Given the description of an element on the screen output the (x, y) to click on. 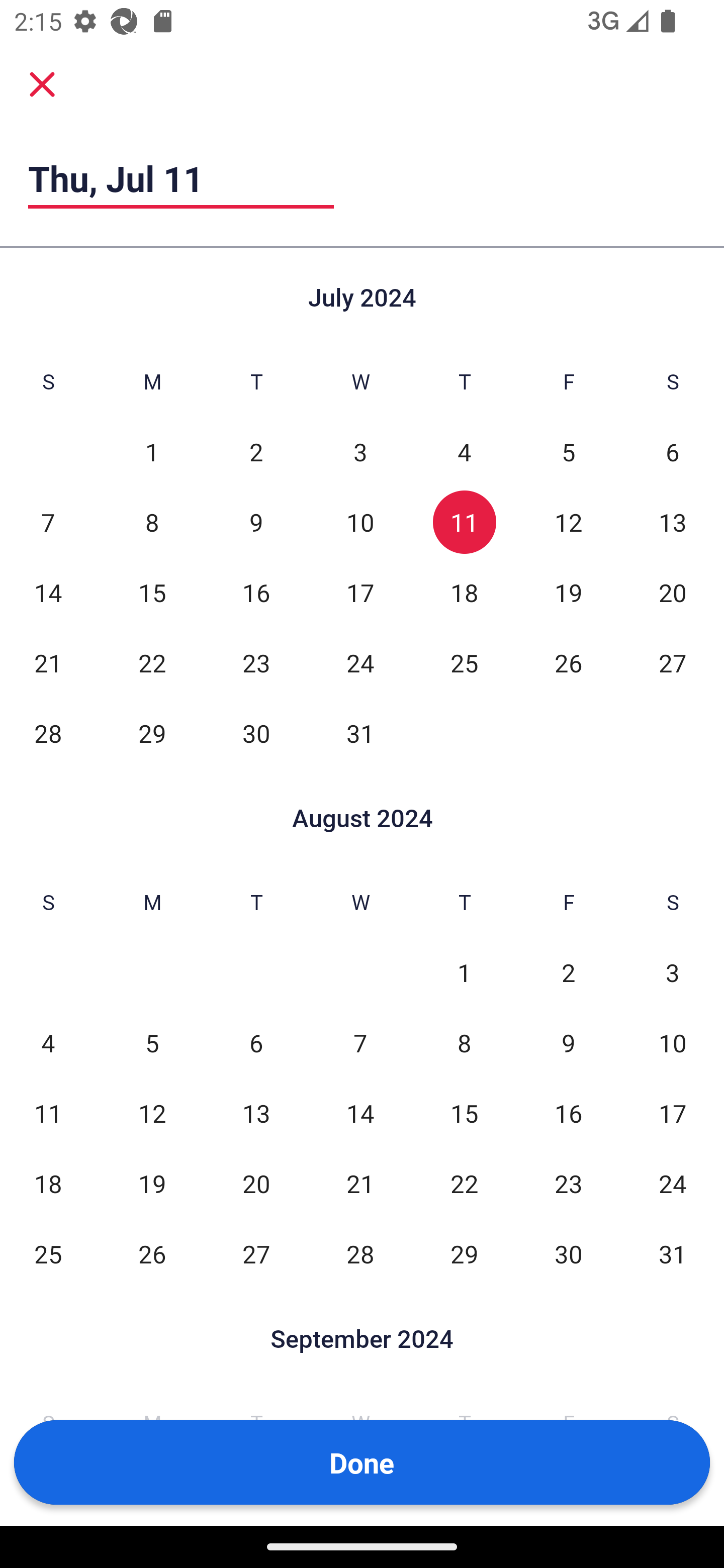
Cancel (41, 83)
Thu, Jul 11 (180, 178)
1 Mon, Jul 1, Not Selected (152, 452)
2 Tue, Jul 2, Not Selected (256, 452)
3 Wed, Jul 3, Not Selected (360, 452)
4 Thu, Jul 4, Not Selected (464, 452)
5 Fri, Jul 5, Not Selected (568, 452)
6 Sat, Jul 6, Not Selected (672, 452)
7 Sun, Jul 7, Not Selected (48, 521)
8 Mon, Jul 8, Not Selected (152, 521)
9 Tue, Jul 9, Not Selected (256, 521)
10 Wed, Jul 10, Not Selected (360, 521)
11 Thu, Jul 11, Selected (464, 521)
12 Fri, Jul 12, Not Selected (568, 521)
13 Sat, Jul 13, Not Selected (672, 521)
14 Sun, Jul 14, Not Selected (48, 591)
15 Mon, Jul 15, Not Selected (152, 591)
16 Tue, Jul 16, Not Selected (256, 591)
17 Wed, Jul 17, Not Selected (360, 591)
18 Thu, Jul 18, Not Selected (464, 591)
19 Fri, Jul 19, Not Selected (568, 591)
20 Sat, Jul 20, Not Selected (672, 591)
21 Sun, Jul 21, Not Selected (48, 662)
22 Mon, Jul 22, Not Selected (152, 662)
23 Tue, Jul 23, Not Selected (256, 662)
24 Wed, Jul 24, Not Selected (360, 662)
25 Thu, Jul 25, Not Selected (464, 662)
26 Fri, Jul 26, Not Selected (568, 662)
27 Sat, Jul 27, Not Selected (672, 662)
28 Sun, Jul 28, Not Selected (48, 732)
29 Mon, Jul 29, Not Selected (152, 732)
30 Tue, Jul 30, Not Selected (256, 732)
31 Wed, Jul 31, Not Selected (360, 732)
1 Thu, Aug 1, Not Selected (464, 972)
2 Fri, Aug 2, Not Selected (568, 972)
3 Sat, Aug 3, Not Selected (672, 972)
4 Sun, Aug 4, Not Selected (48, 1043)
5 Mon, Aug 5, Not Selected (152, 1043)
6 Tue, Aug 6, Not Selected (256, 1043)
7 Wed, Aug 7, Not Selected (360, 1043)
8 Thu, Aug 8, Not Selected (464, 1043)
9 Fri, Aug 9, Not Selected (568, 1043)
10 Sat, Aug 10, Not Selected (672, 1043)
11 Sun, Aug 11, Not Selected (48, 1112)
12 Mon, Aug 12, Not Selected (152, 1112)
13 Tue, Aug 13, Not Selected (256, 1112)
14 Wed, Aug 14, Not Selected (360, 1112)
15 Thu, Aug 15, Not Selected (464, 1112)
16 Fri, Aug 16, Not Selected (568, 1112)
17 Sat, Aug 17, Not Selected (672, 1112)
18 Sun, Aug 18, Not Selected (48, 1182)
19 Mon, Aug 19, Not Selected (152, 1182)
20 Tue, Aug 20, Not Selected (256, 1182)
21 Wed, Aug 21, Not Selected (360, 1182)
22 Thu, Aug 22, Not Selected (464, 1182)
23 Fri, Aug 23, Not Selected (568, 1182)
24 Sat, Aug 24, Not Selected (672, 1182)
25 Sun, Aug 25, Not Selected (48, 1253)
26 Mon, Aug 26, Not Selected (152, 1253)
27 Tue, Aug 27, Not Selected (256, 1253)
28 Wed, Aug 28, Not Selected (360, 1253)
29 Thu, Aug 29, Not Selected (464, 1253)
30 Fri, Aug 30, Not Selected (568, 1253)
31 Sat, Aug 31, Not Selected (672, 1253)
Done Button Done (361, 1462)
